Given the description of an element on the screen output the (x, y) to click on. 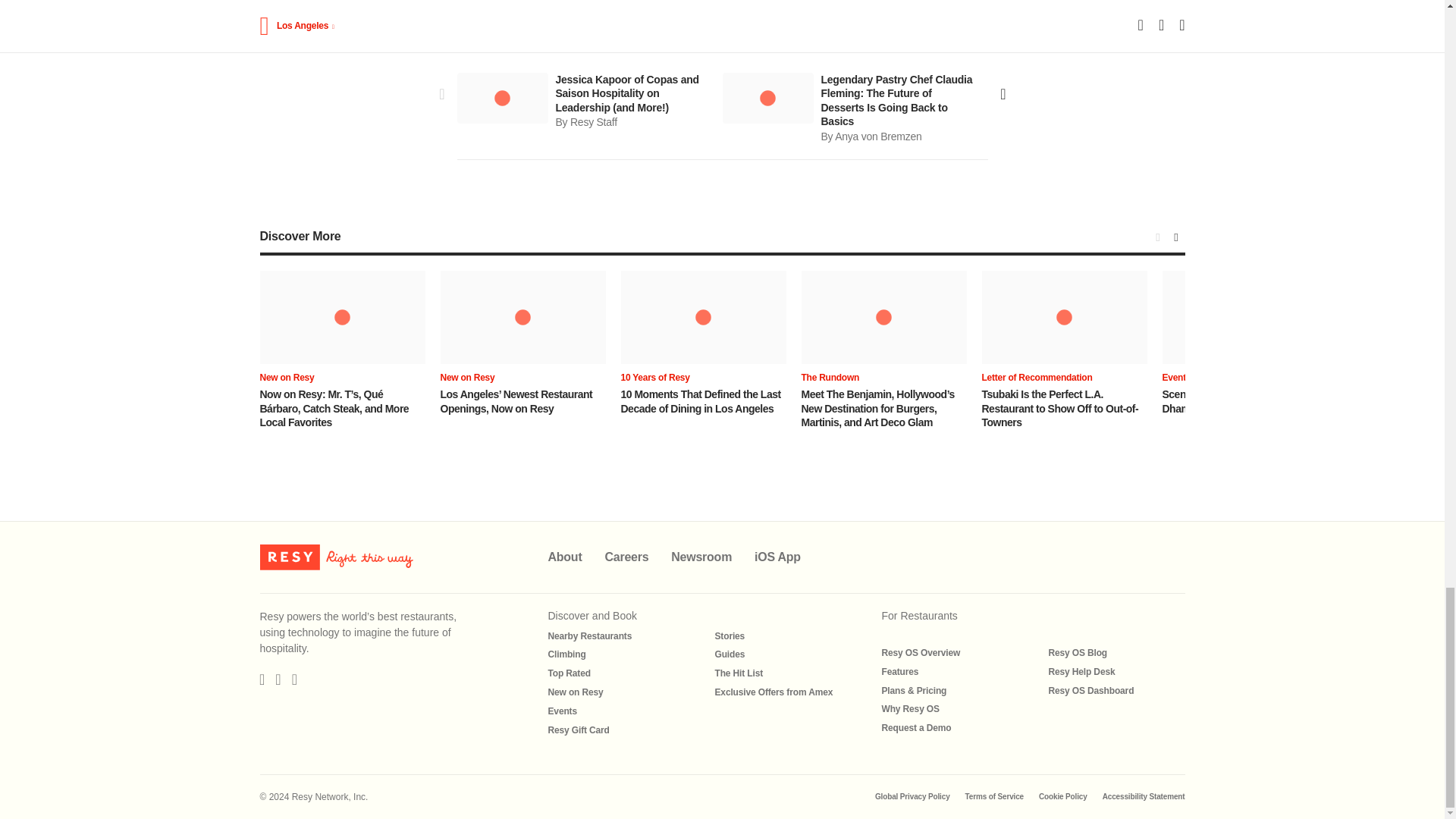
Posts by Anya von Bremzen (877, 136)
Posts by Resy Staff (593, 121)
